Given the description of an element on the screen output the (x, y) to click on. 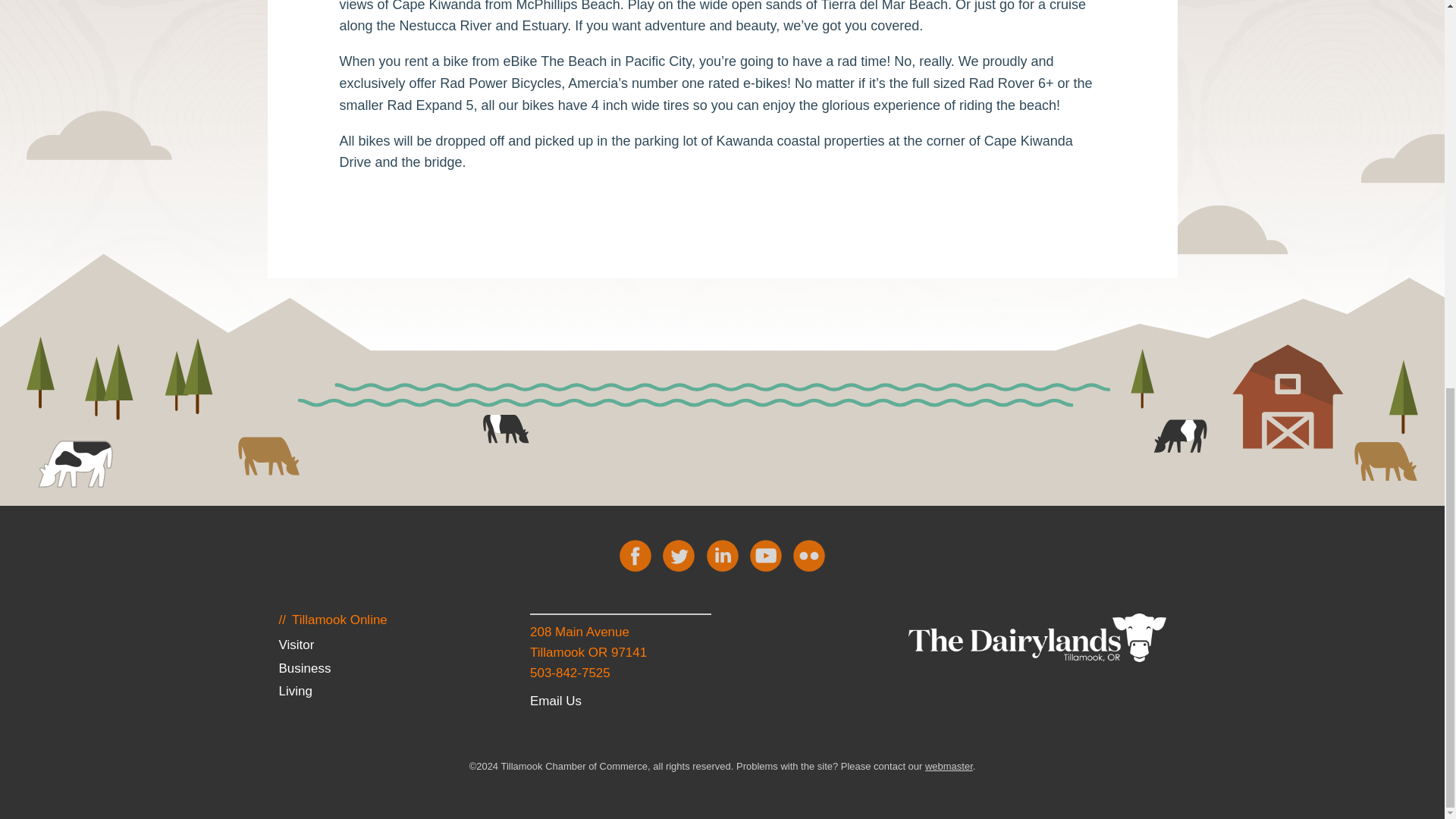
YouTube (765, 555)
Twitter (678, 555)
Living (294, 690)
Facebook (635, 555)
LinkedIn (722, 555)
flickr (809, 555)
Visitor (296, 644)
Business (304, 667)
webmaster (948, 766)
Tillamook Chamber of Commerce (1037, 637)
Email Us (554, 700)
